Given the description of an element on the screen output the (x, y) to click on. 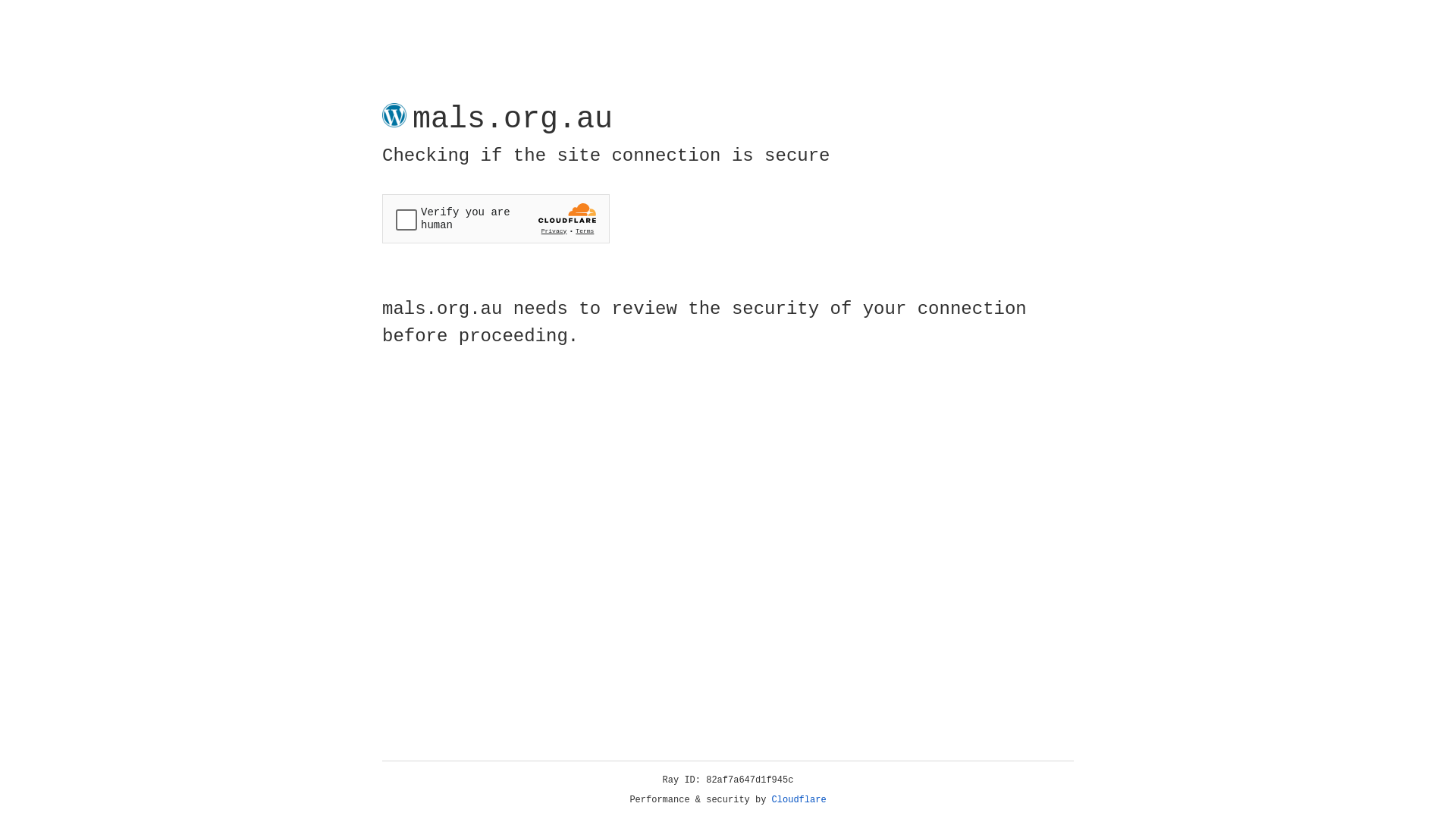
Widget containing a Cloudflare security challenge Element type: hover (495, 218)
Cloudflare Element type: text (798, 799)
